Given the description of an element on the screen output the (x, y) to click on. 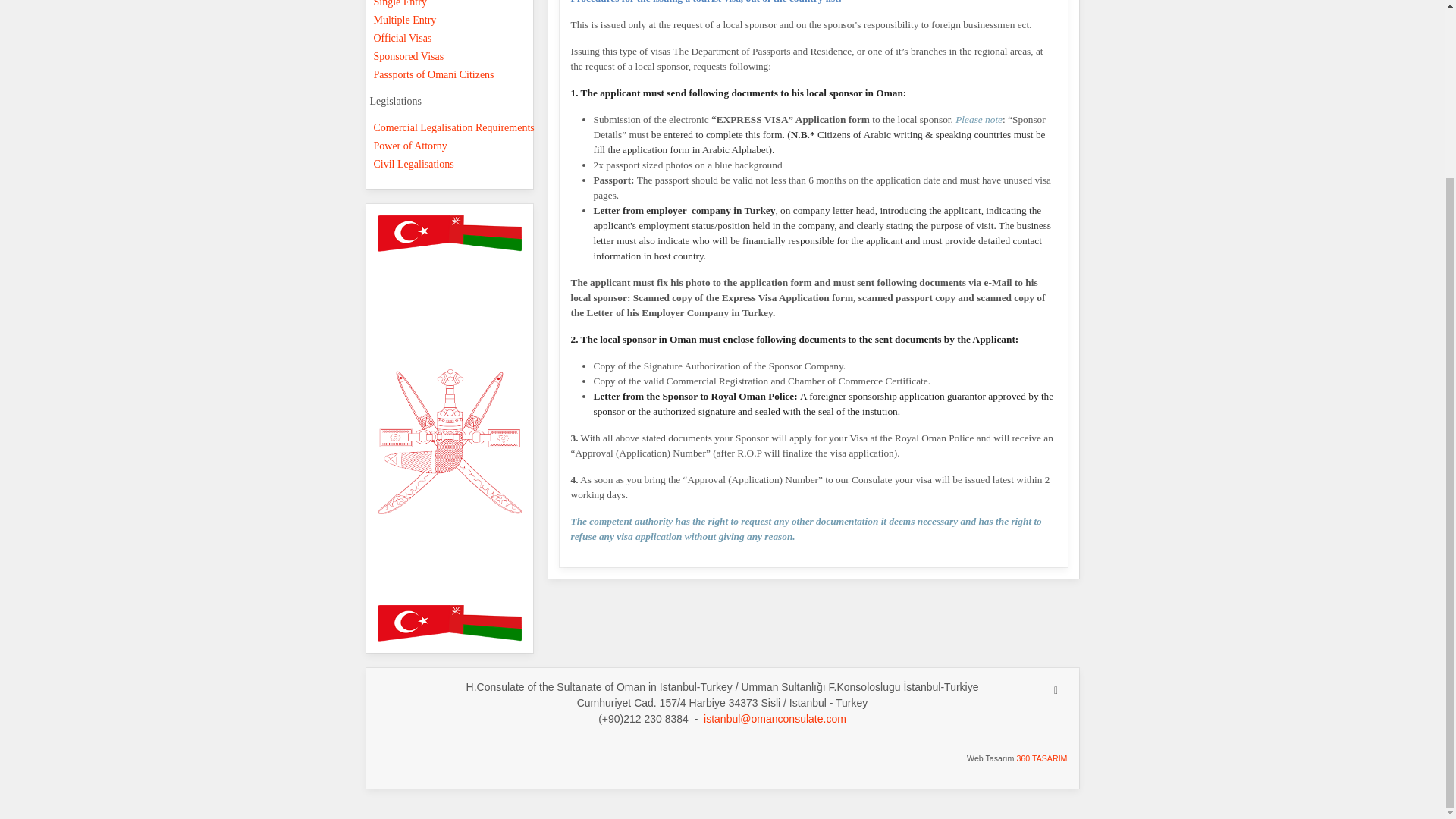
Single Entry (454, 5)
Multiple Entry (454, 20)
Sponsored Visas (454, 56)
Civil Legalisations (454, 164)
Passports of Omani Citizens (454, 75)
Power of Attorny (454, 146)
360 TASARIM (1041, 757)
Official Visas (454, 38)
Legislations (449, 101)
Comercial Legalisation Requirements (454, 127)
